Given the description of an element on the screen output the (x, y) to click on. 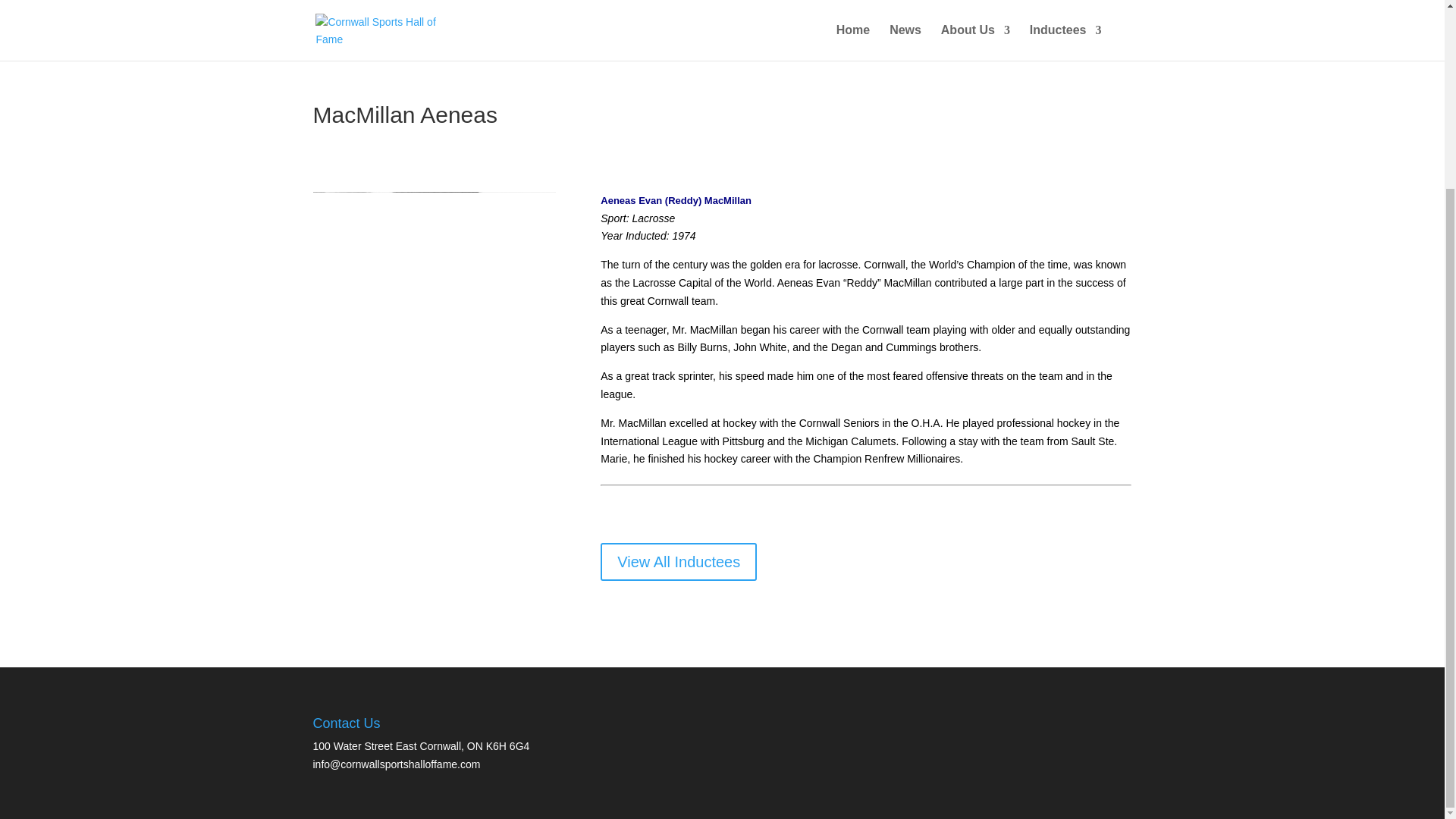
View All Inductees (678, 561)
